Given the description of an element on the screen output the (x, y) to click on. 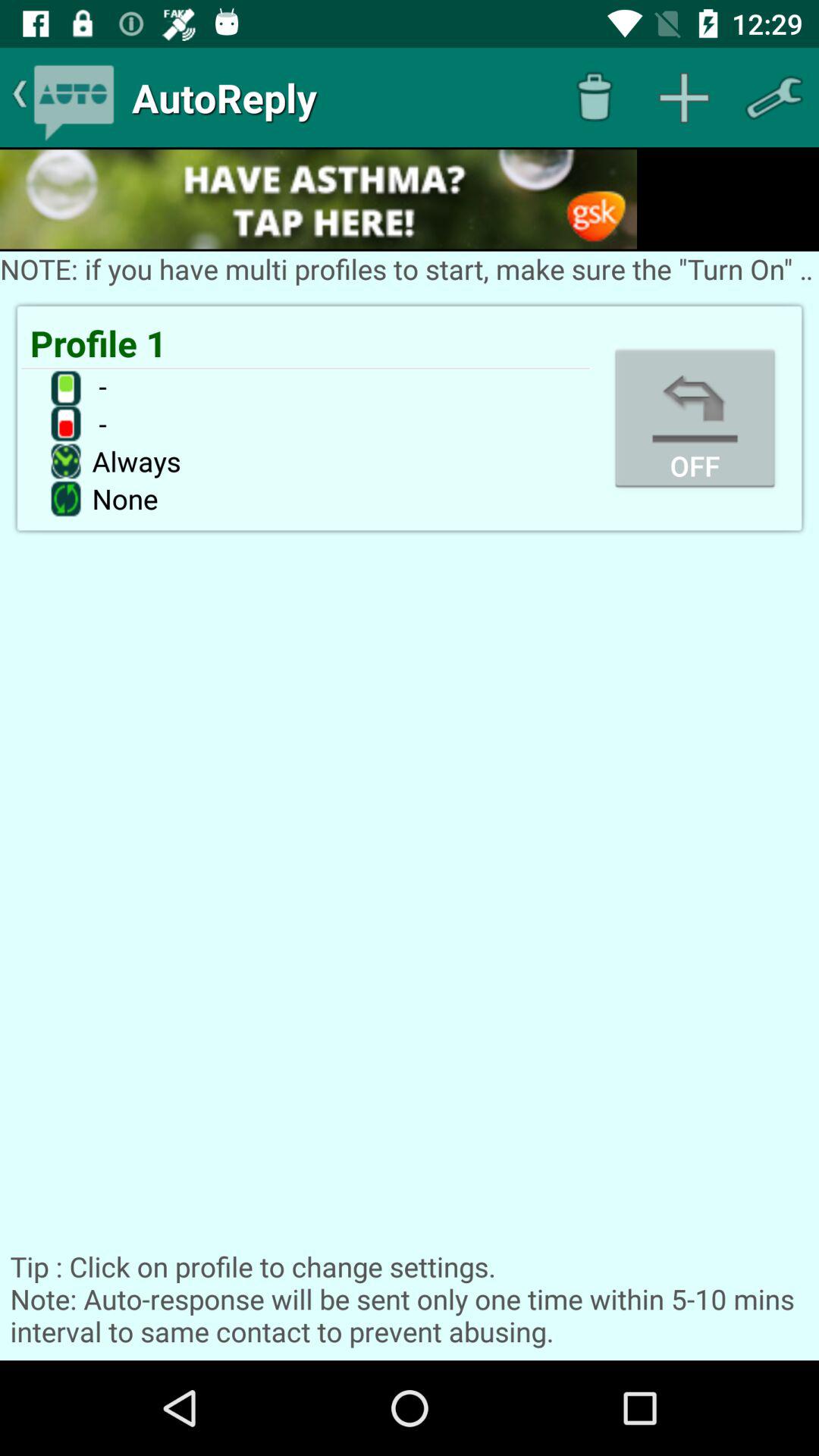
click to delete option (594, 97)
